Given the description of an element on the screen output the (x, y) to click on. 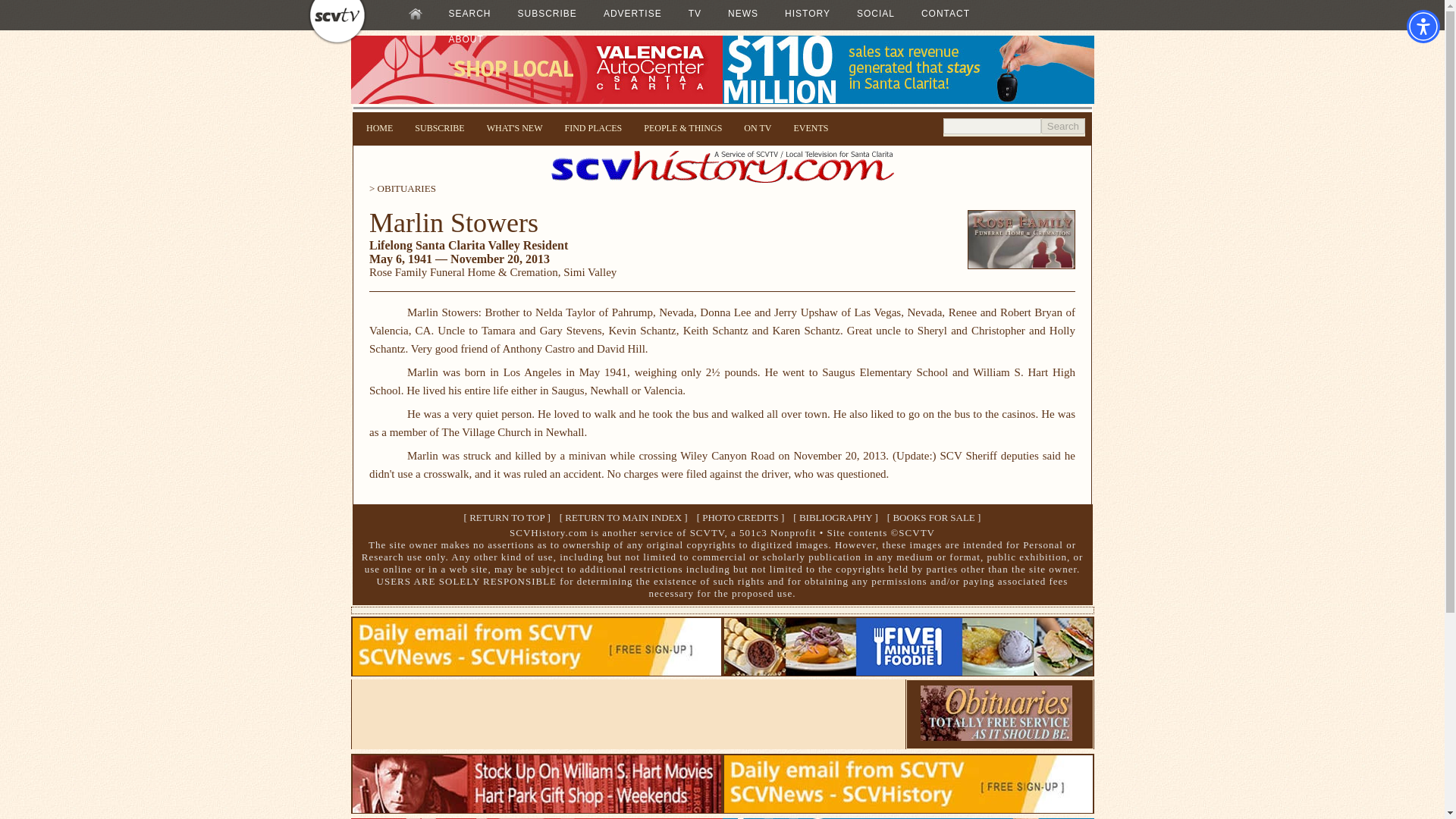
Auto Mall (721, 99)
Five Minute Foodie (907, 671)
SUBSCRIBE (548, 13)
TV (695, 13)
Accessibility Menu (1422, 26)
SEARCH (470, 13)
Hart Park Gift Shop (536, 808)
NEWS (742, 13)
Eletter (907, 808)
Search (1062, 125)
Advertisement (628, 714)
Eletter (536, 671)
ADVERTISE (632, 13)
Obituaries (995, 736)
